Given the description of an element on the screen output the (x, y) to click on. 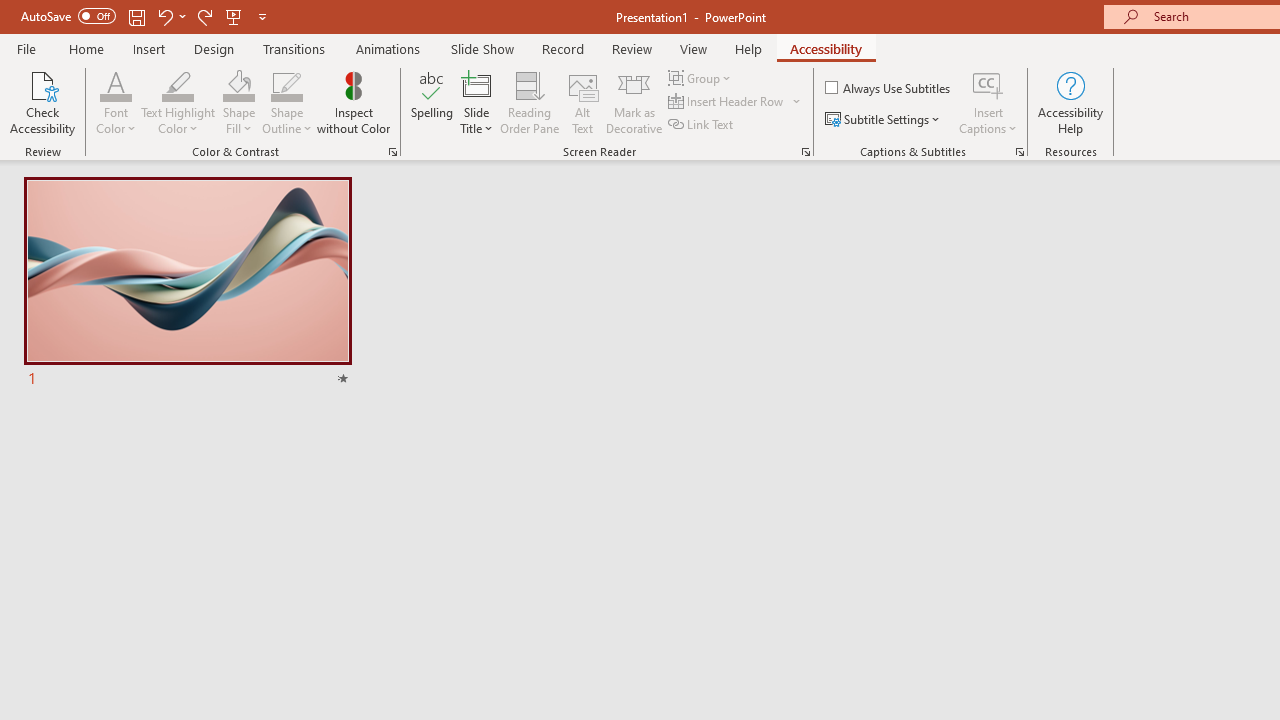
Link Text (702, 124)
Slide Title (476, 84)
Insert Captions (988, 84)
Captions & Subtitles (1019, 151)
Insert Captions (988, 102)
Shape Fill Orange, Accent 2 (238, 84)
Reading Order Pane (529, 102)
